Given the description of an element on the screen output the (x, y) to click on. 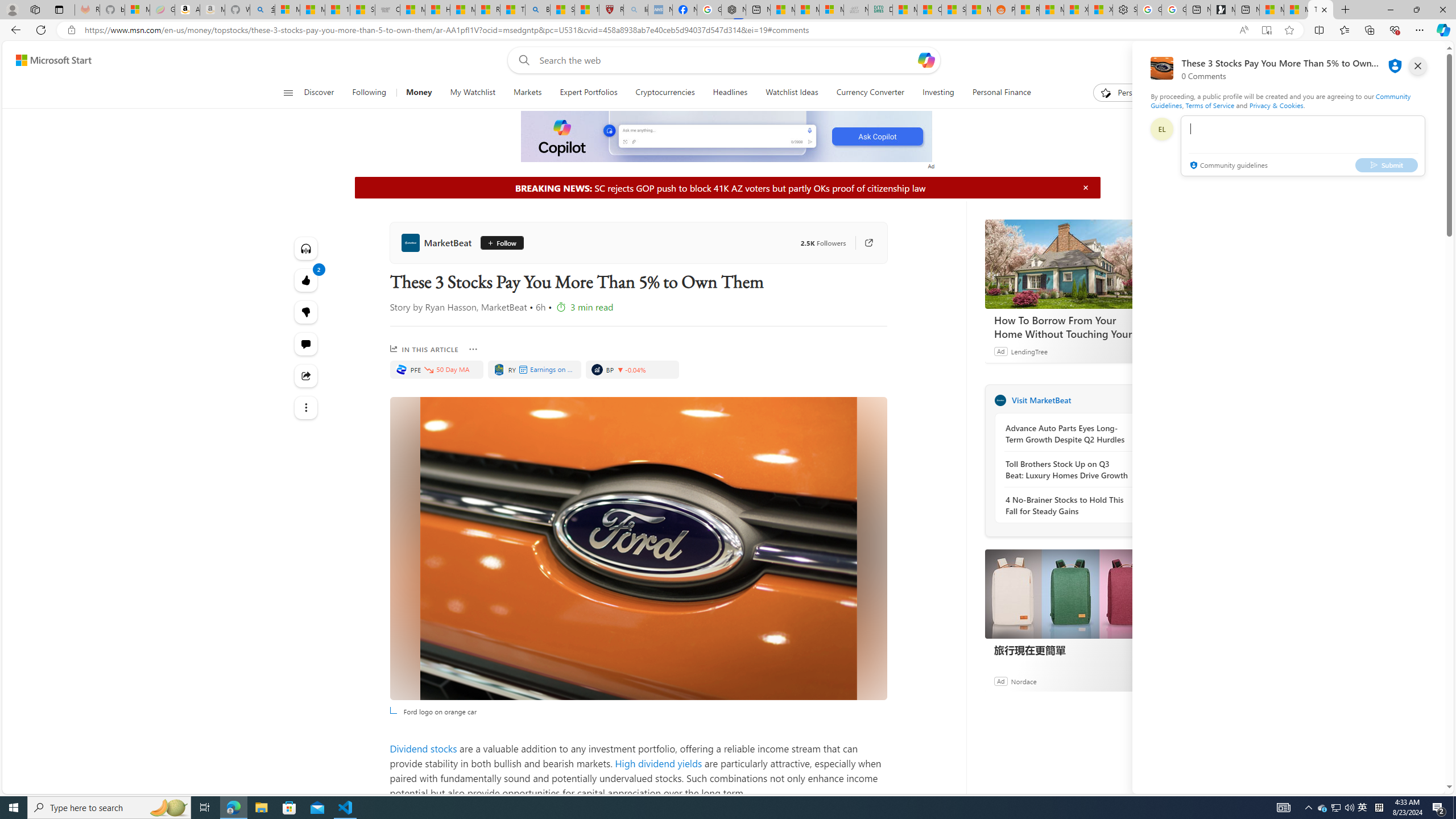
Personalize (1128, 92)
R******* | Trusted Community Engagement and Contributions (1026, 9)
Investing (937, 92)
BP, BP P.L.C.. Price is 33.51. Decreased by -0.04% (631, 369)
MarketBeat (1000, 399)
